Given the description of an element on the screen output the (x, y) to click on. 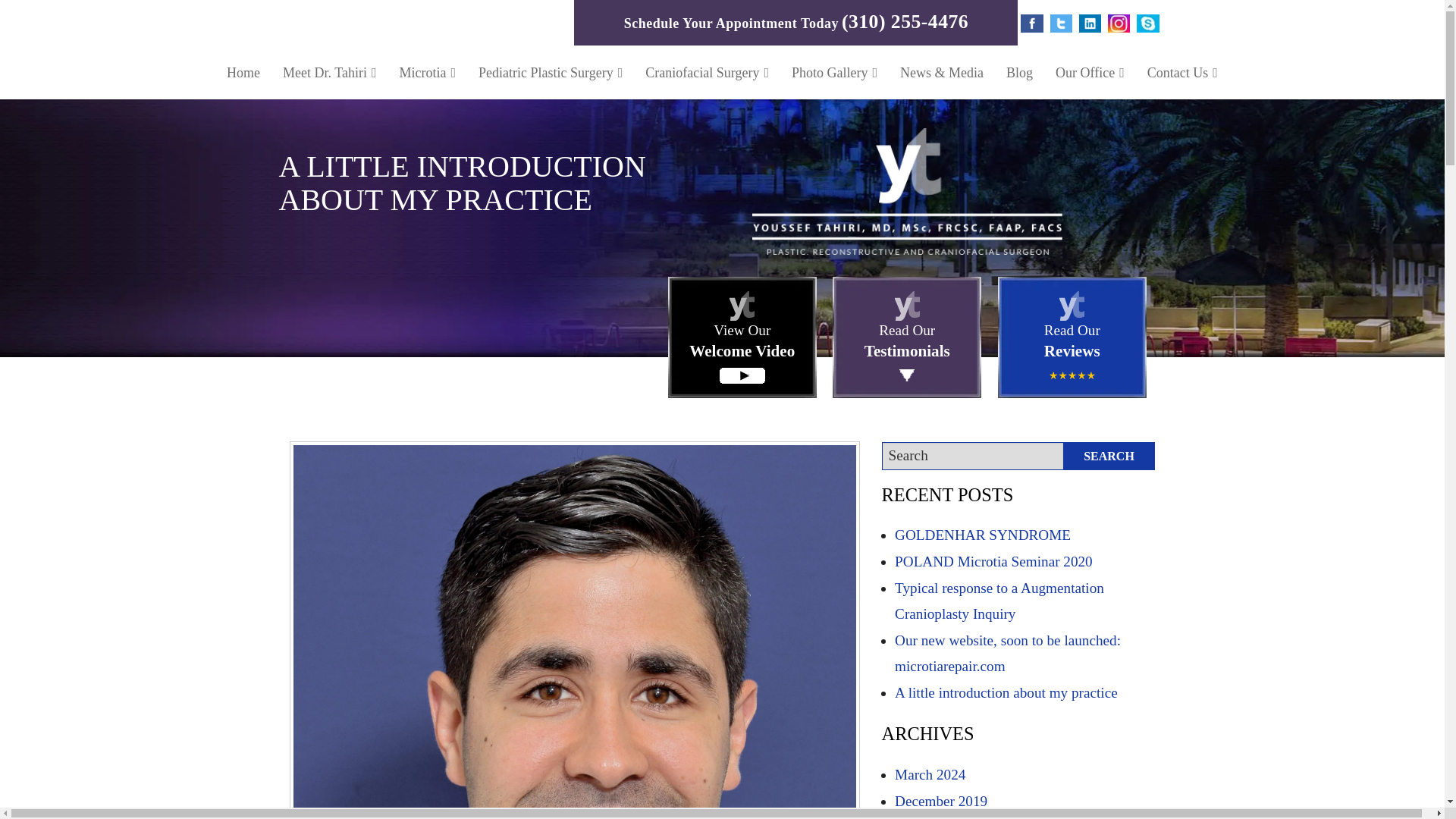
Search (1109, 456)
Microtia (427, 72)
Home (242, 72)
Meet Dr. Tahiri (328, 72)
Craniofacial Surgery (706, 72)
Pediatric Plastic Surgery (550, 72)
